Given the description of an element on the screen output the (x, y) to click on. 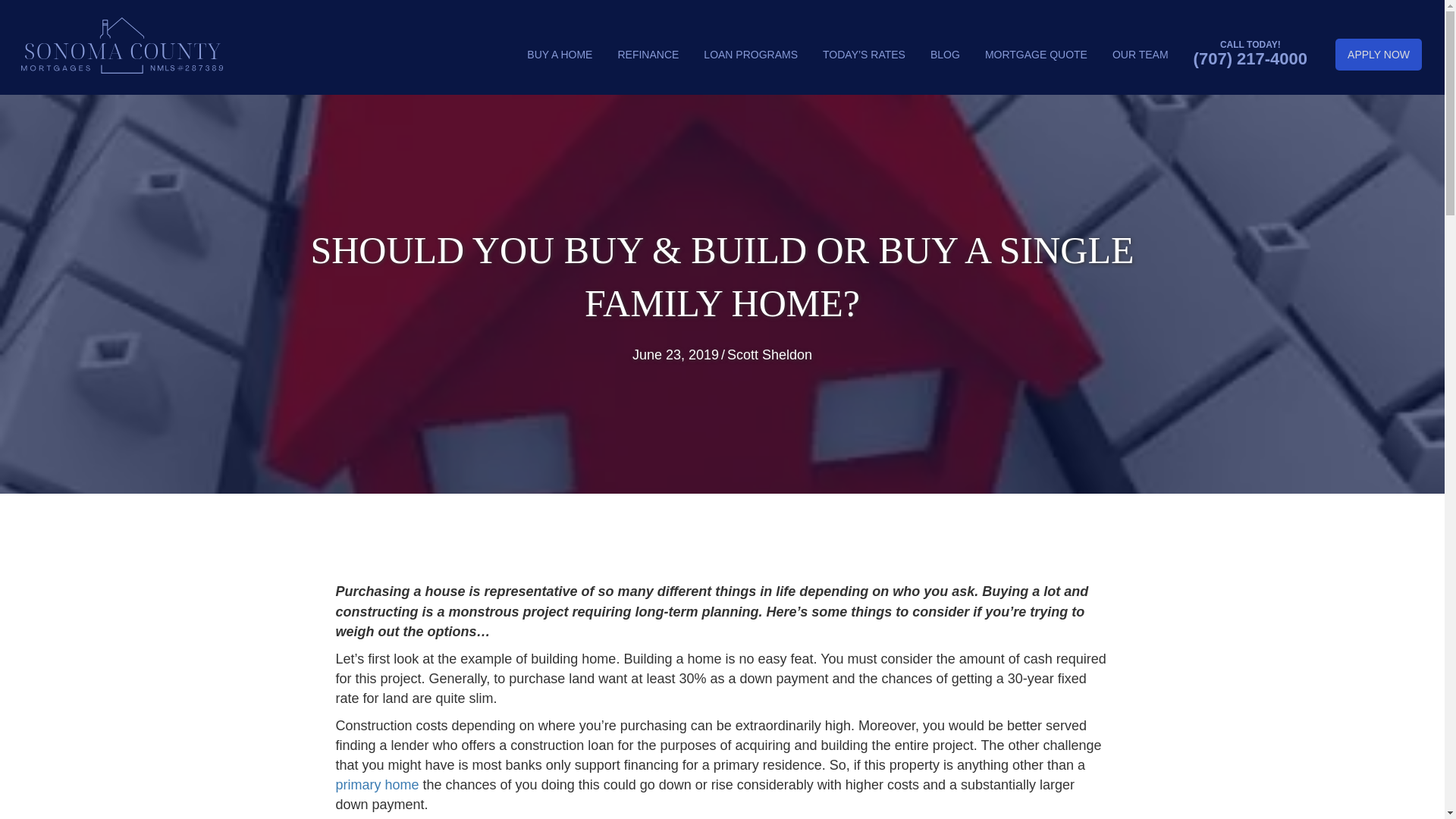
BLOG (945, 54)
Sonoma County Mortgages (121, 45)
MORTGAGE QUOTE (1035, 54)
OUR TEAM (1140, 54)
REFINANCE (647, 54)
APPLY NOW (1378, 54)
primary home (376, 784)
LOAN PROGRAMS (750, 54)
BUY A HOME (559, 54)
